Given the description of an element on the screen output the (x, y) to click on. 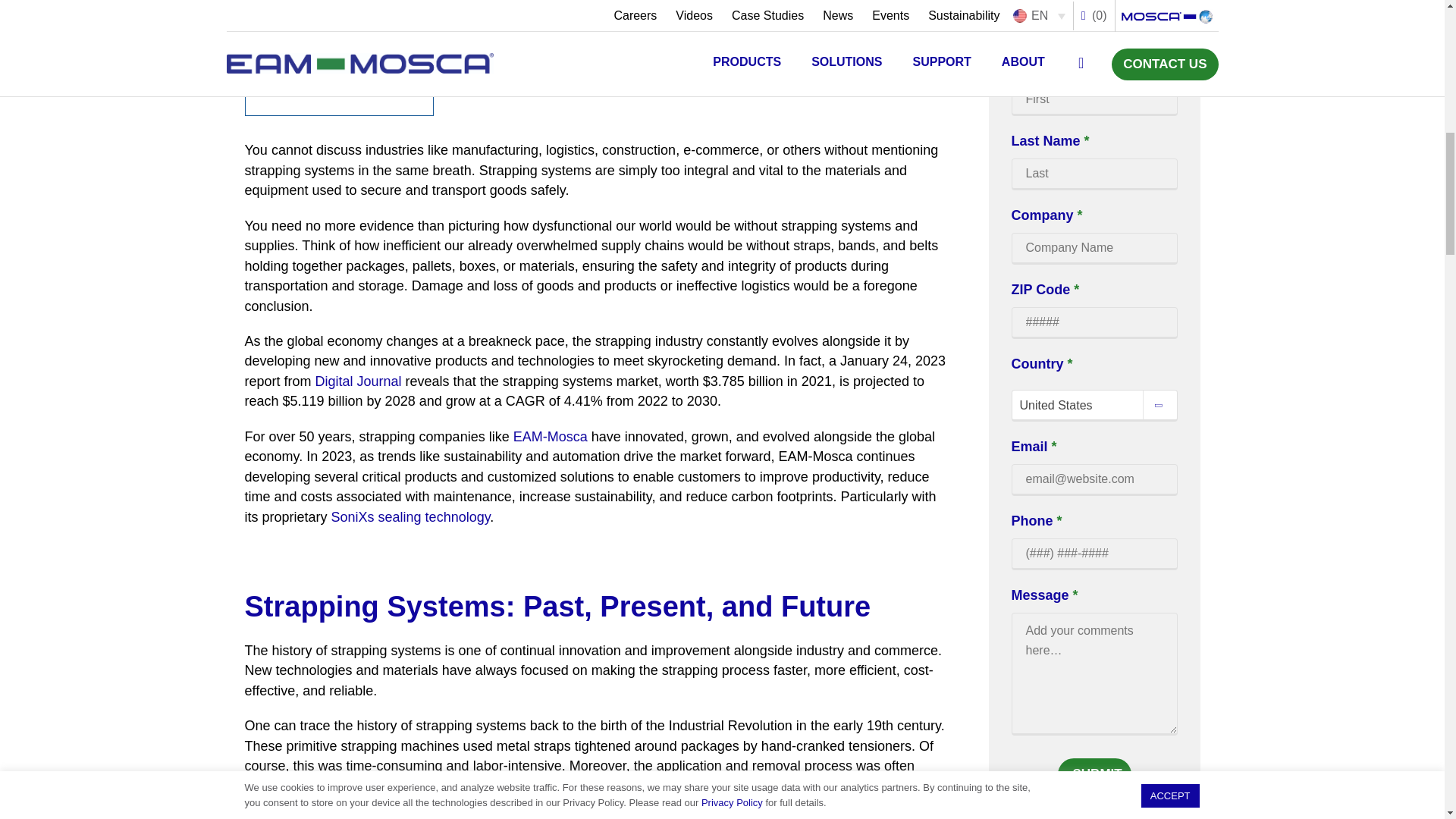
Submit (1094, 774)
